Given the description of an element on the screen output the (x, y) to click on. 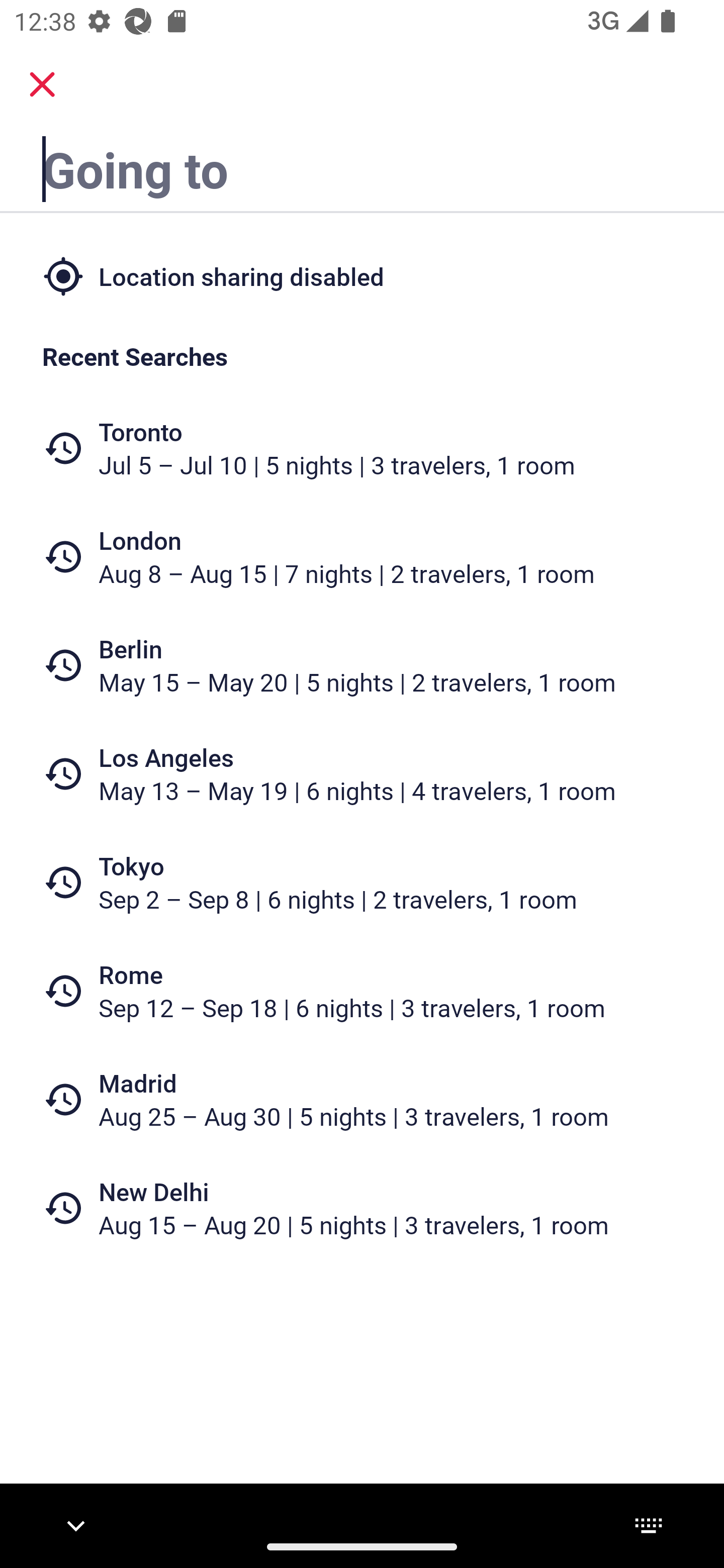
close. (42, 84)
Location sharing disabled (362, 275)
